Given the description of an element on the screen output the (x, y) to click on. 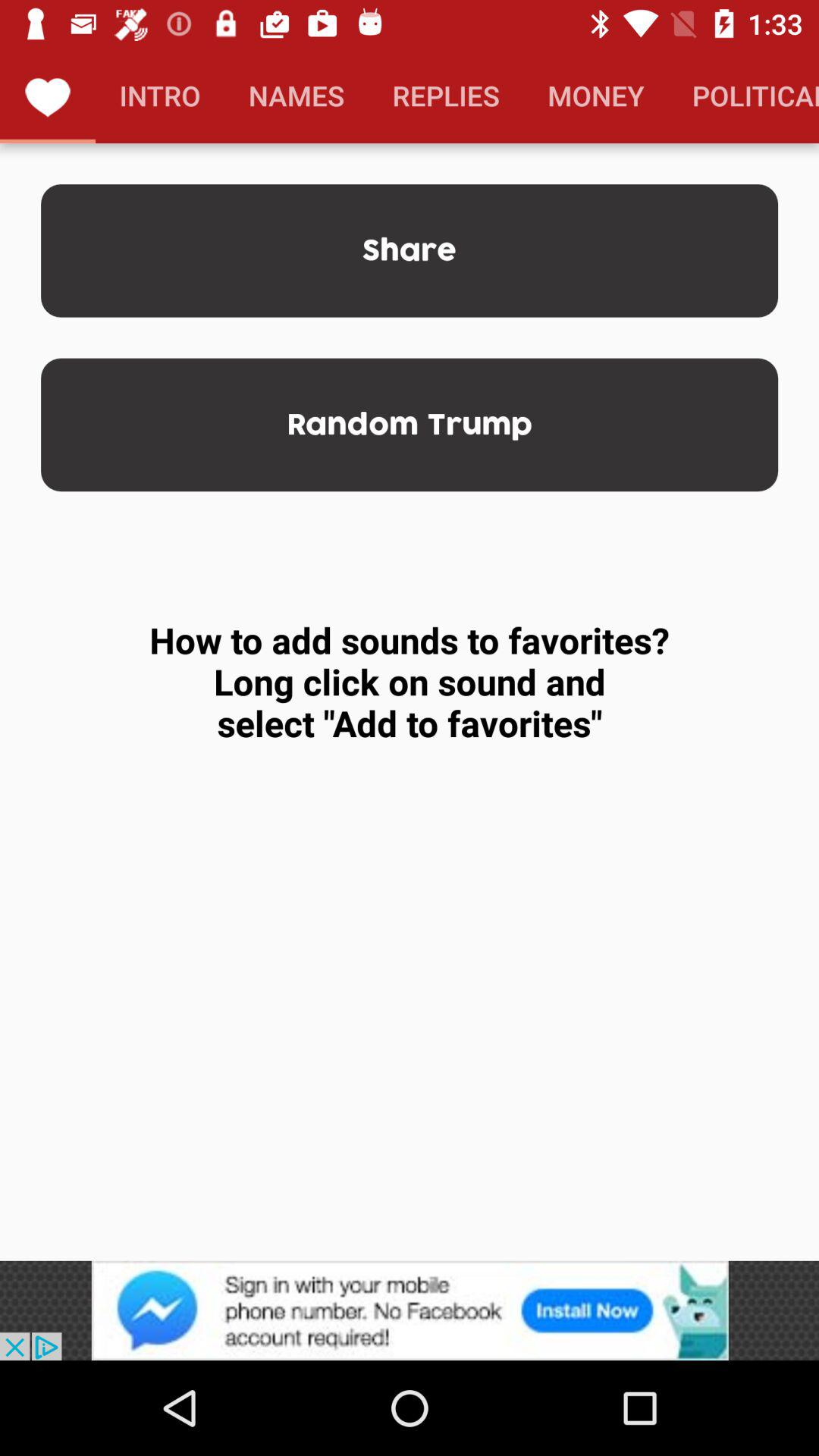
view the adverisment (409, 1310)
